Given the description of an element on the screen output the (x, y) to click on. 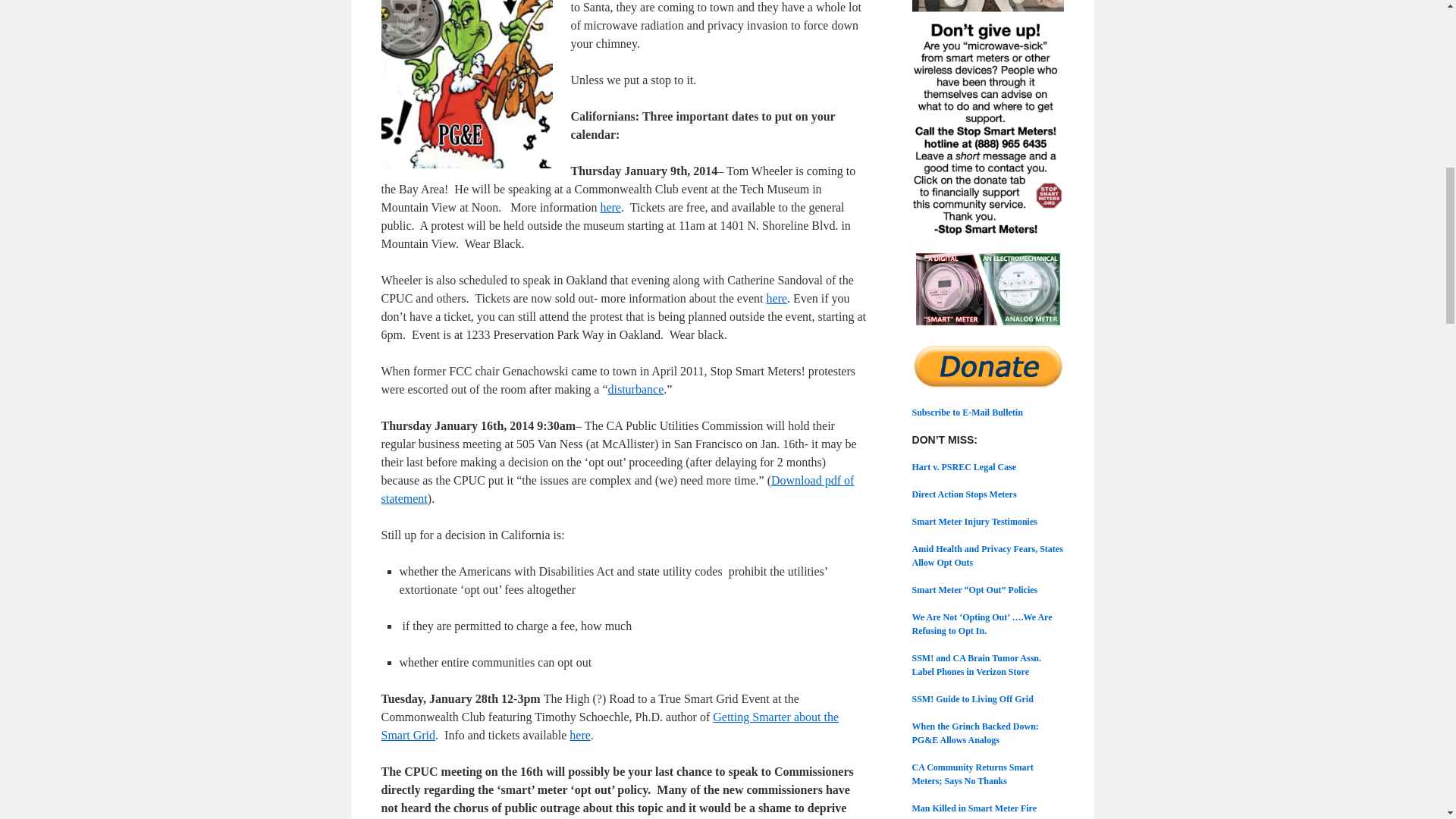
Download pdf of statement (616, 489)
here (610, 206)
Getting Smarter about the Smart Grid (609, 726)
here (580, 735)
disturbance (635, 389)
here (776, 297)
